Given the description of an element on the screen output the (x, y) to click on. 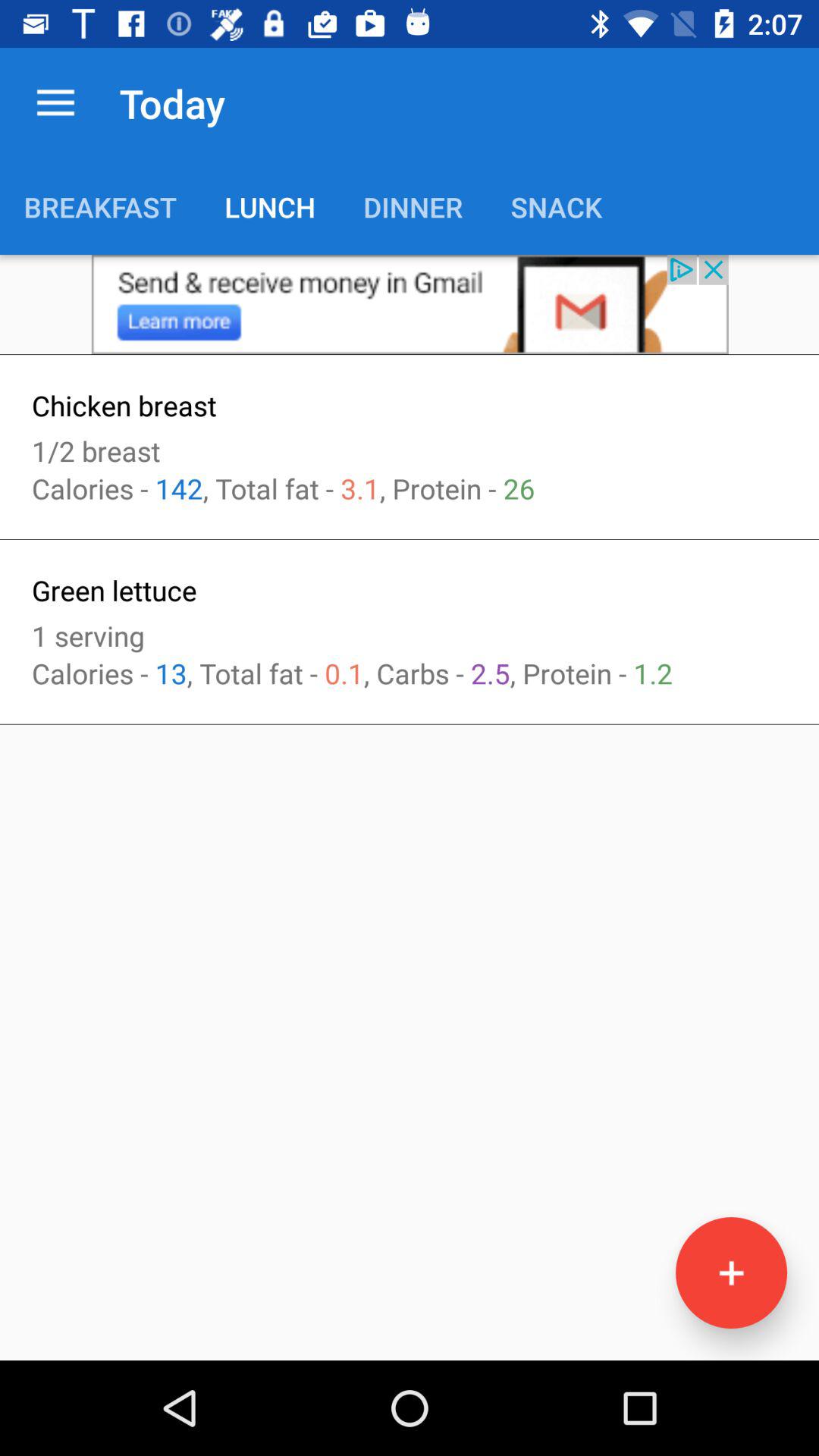
add food (731, 1272)
